Given the description of an element on the screen output the (x, y) to click on. 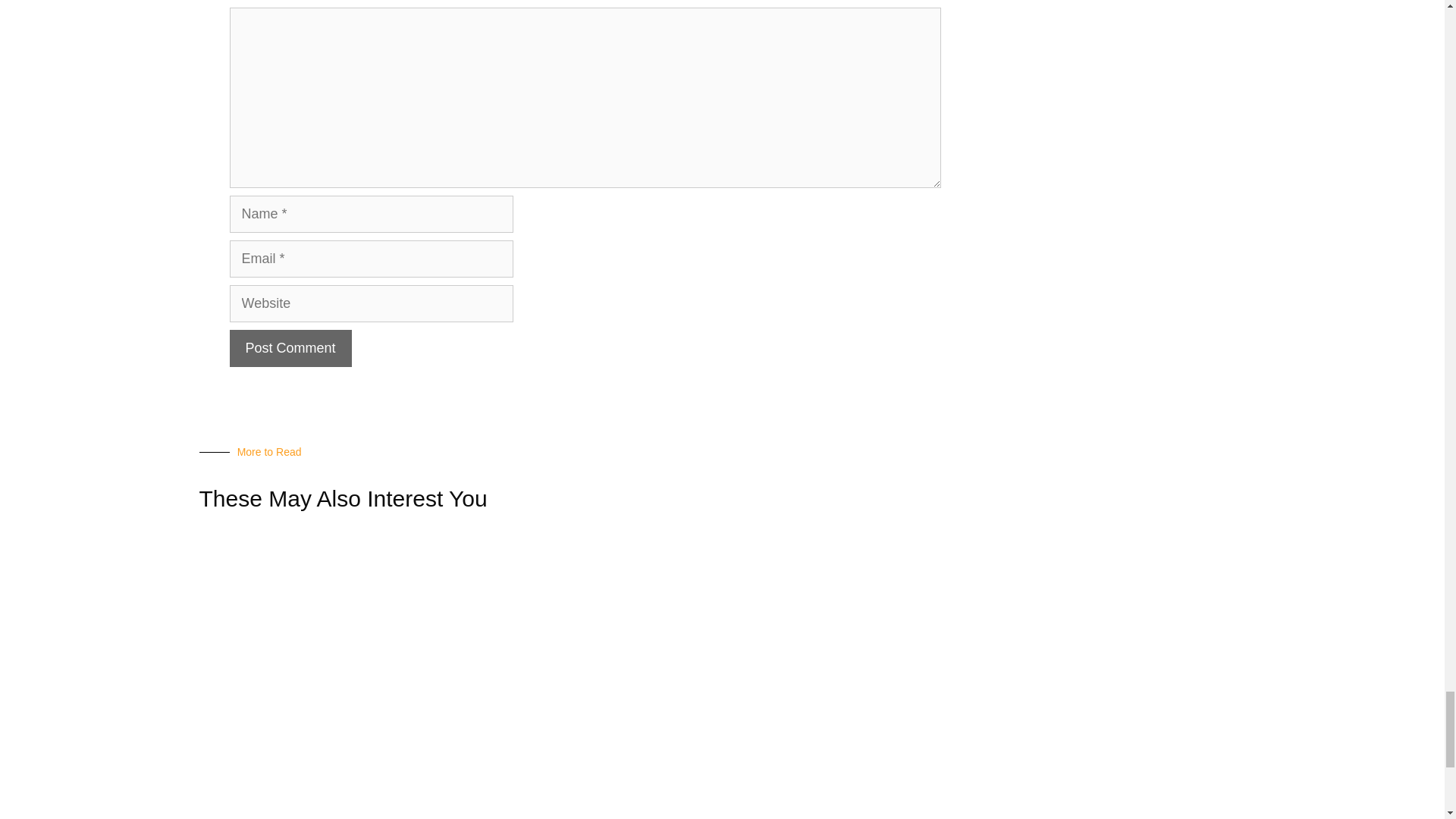
Post Comment (289, 348)
